Given the description of an element on the screen output the (x, y) to click on. 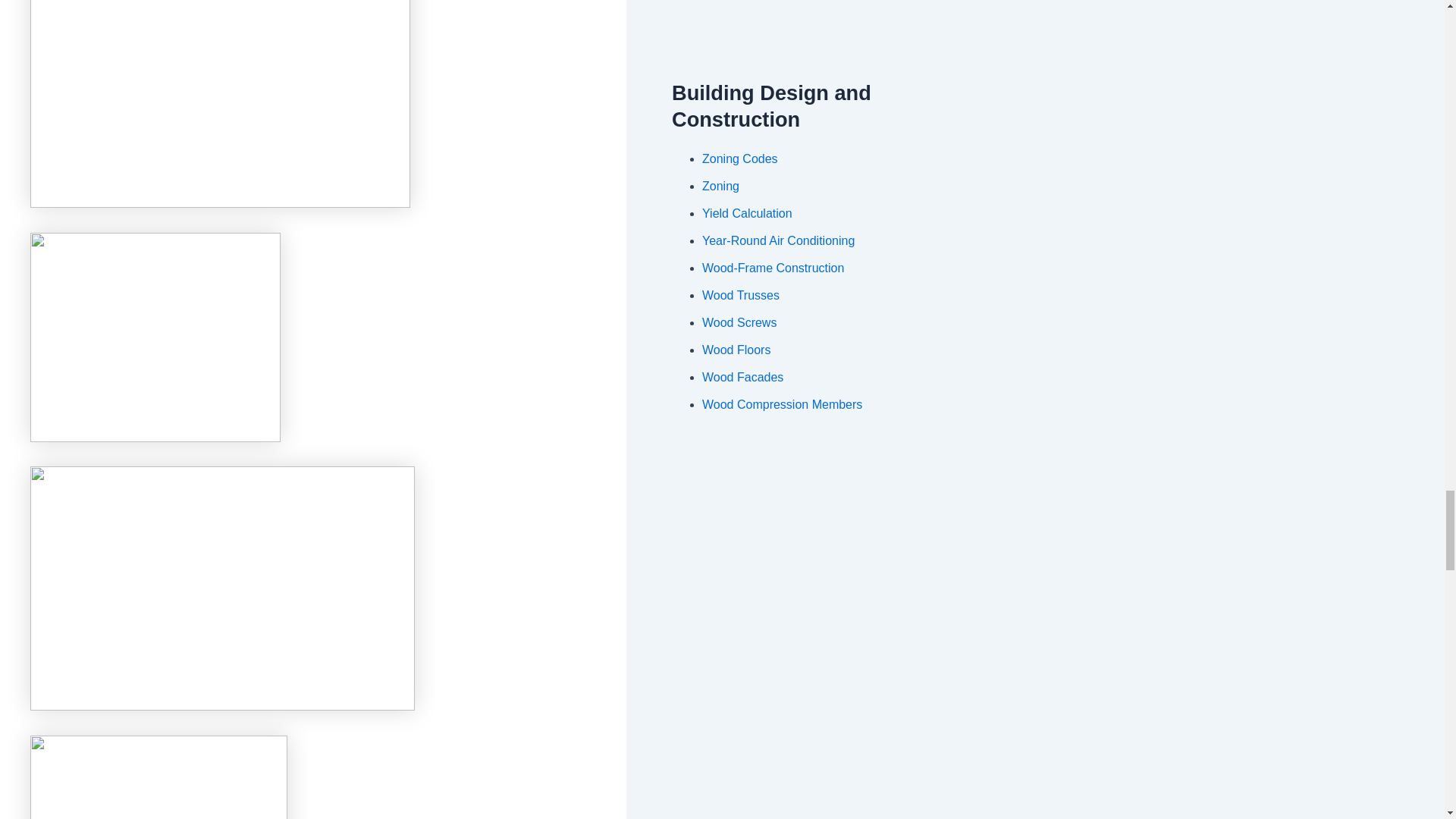
FIGURE 9.22 Chart for determination of moment of inertia (158, 777)
TABLE 9.15 Minimum Depths h of Reinforced-Concrete (155, 337)
Zoning Codes (739, 158)
eq (222, 588)
